Given the description of an element on the screen output the (x, y) to click on. 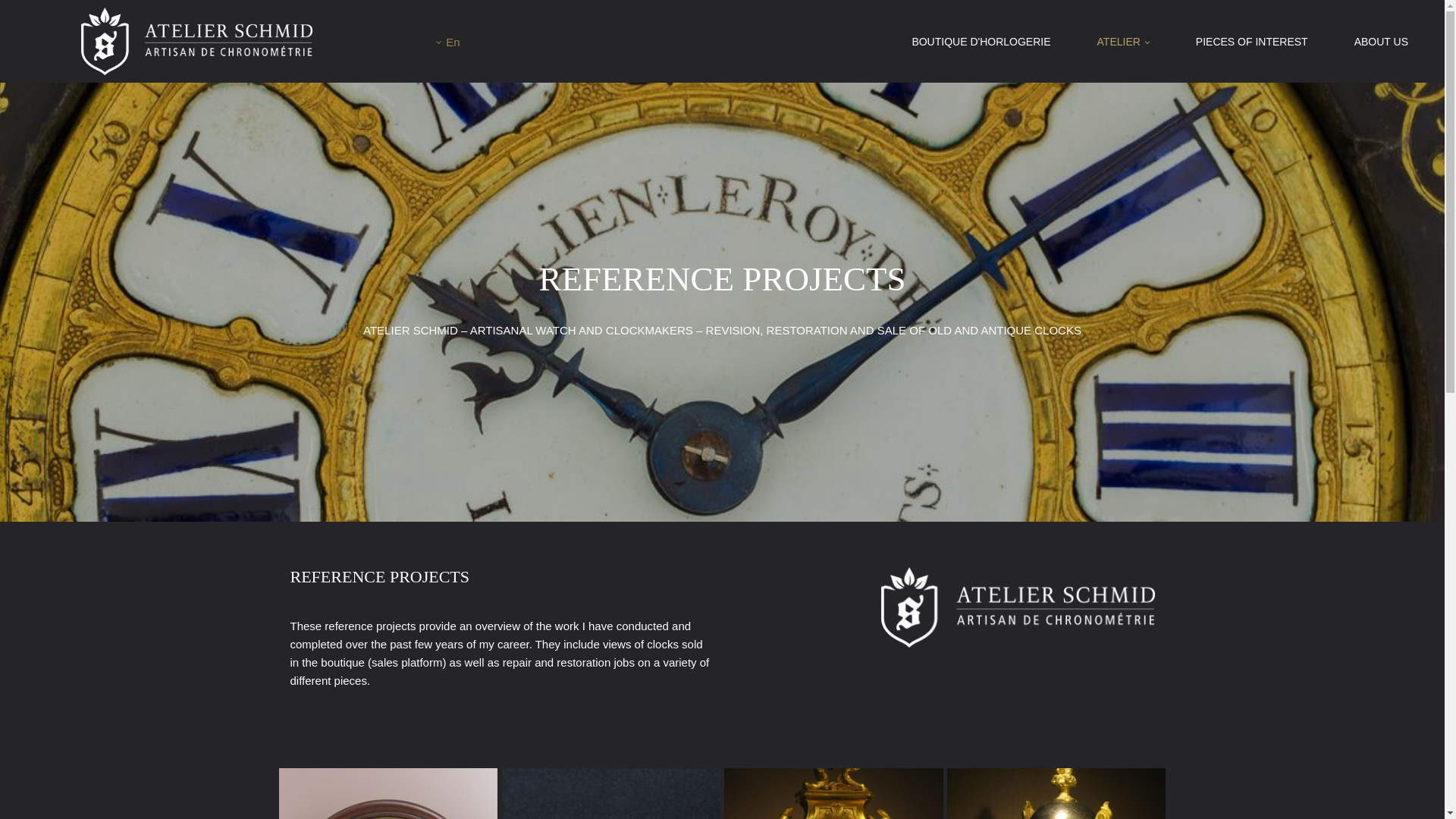
BOUTIQUE D'HORLOGERIE Element type: text (980, 41)
ATELIER Element type: text (1123, 41)
En Element type: text (447, 41)
PIECES OF INTEREST Element type: text (1251, 41)
ABOUT US Element type: text (1381, 41)
